Given the description of an element on the screen output the (x, y) to click on. 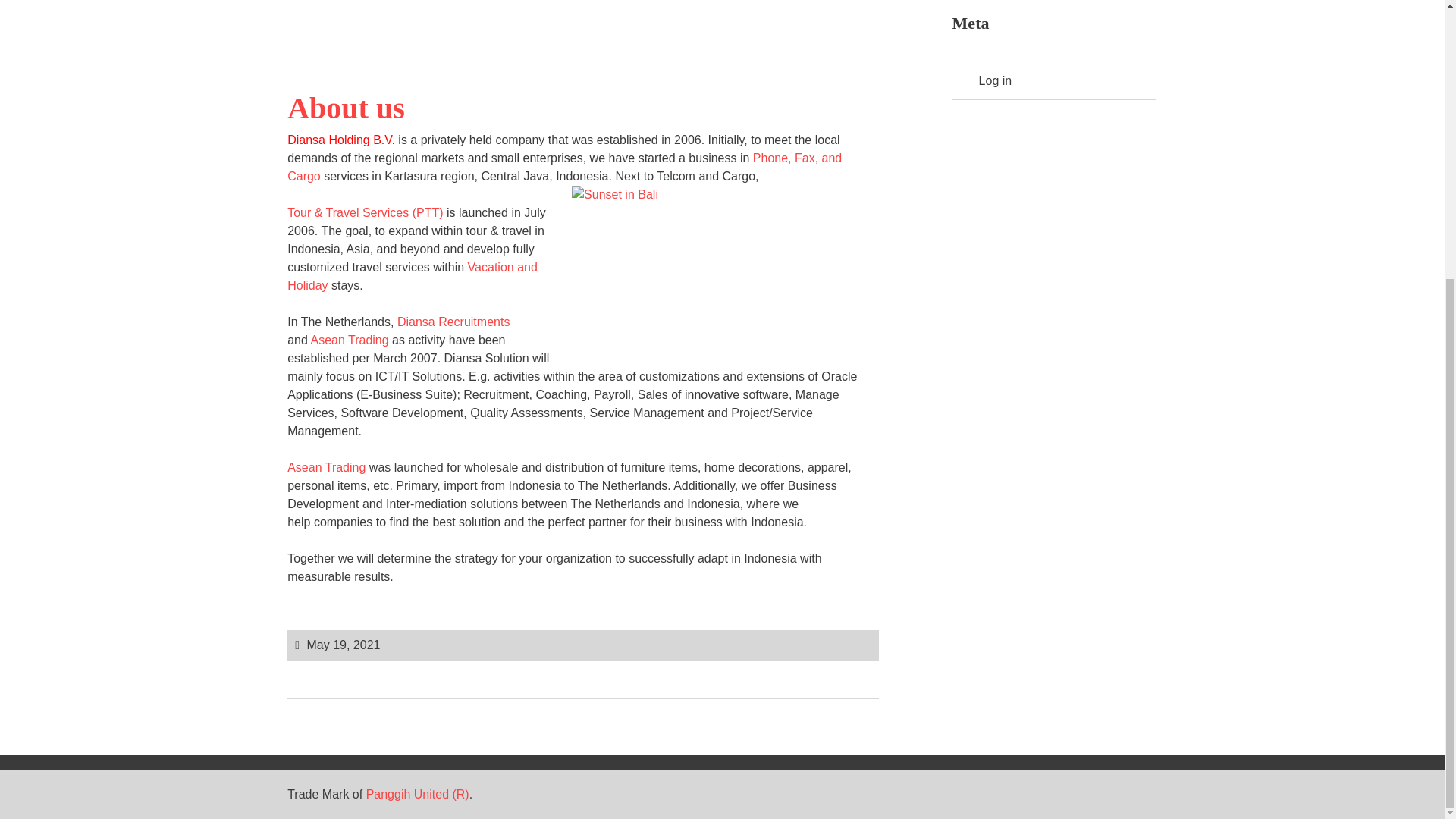
Diansa Recruitments (454, 321)
Log in (994, 79)
Vacation and Holiday (411, 276)
Asean Trading (325, 467)
May 19, 2021 (342, 644)
Asean Trading (349, 339)
Phone, Fax, and Cargo (563, 166)
About us (345, 107)
